Given the description of an element on the screen output the (x, y) to click on. 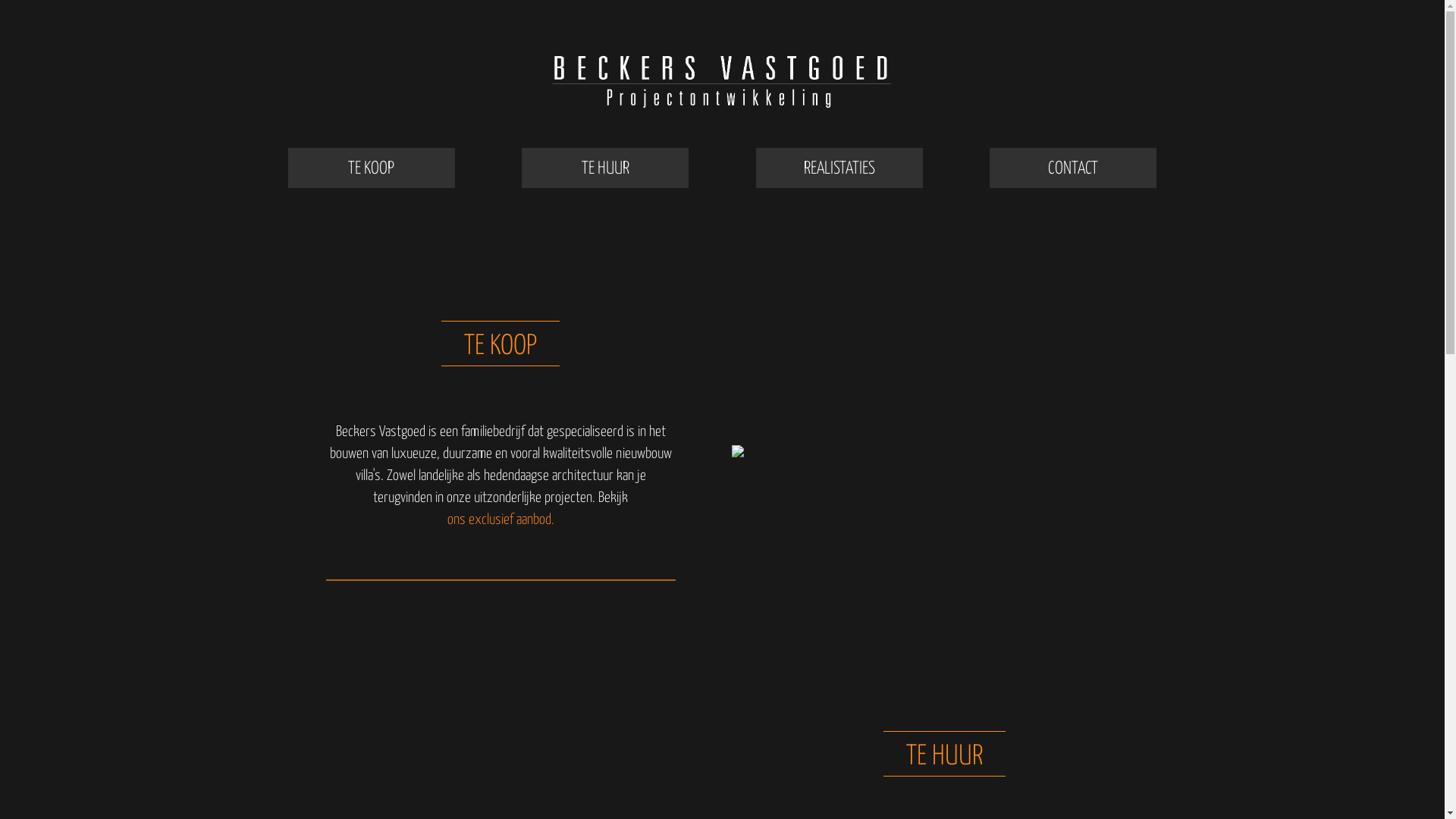
TE KOOP Element type: text (371, 167)
TE HUUR Element type: text (604, 167)
REALISTATIES Element type: text (839, 167)
CONTACT Element type: text (1072, 167)
ons exclusief aanbod. Element type: text (500, 519)
